Given the description of an element on the screen output the (x, y) to click on. 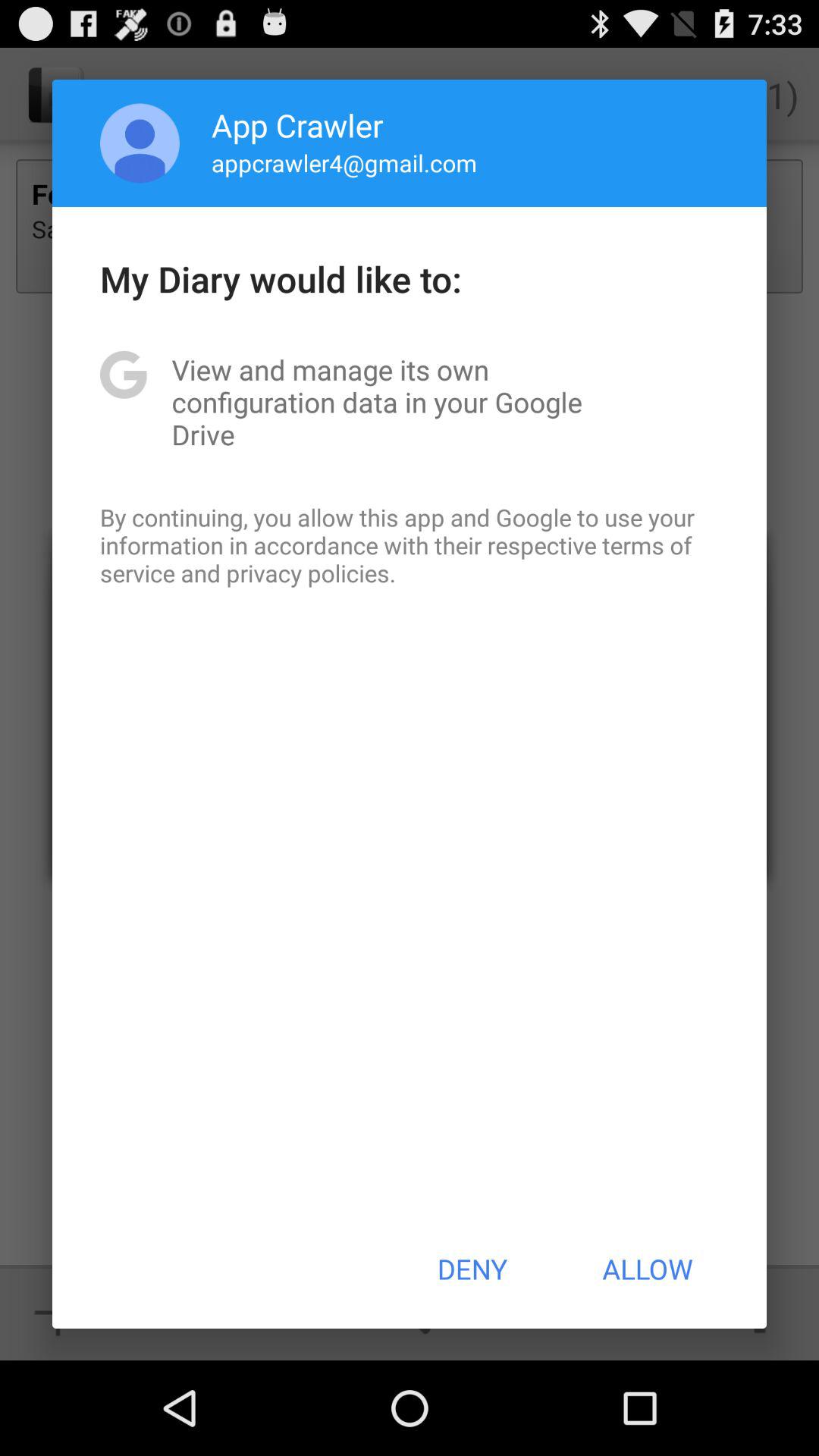
jump until app crawler icon (297, 124)
